Given the description of an element on the screen output the (x, y) to click on. 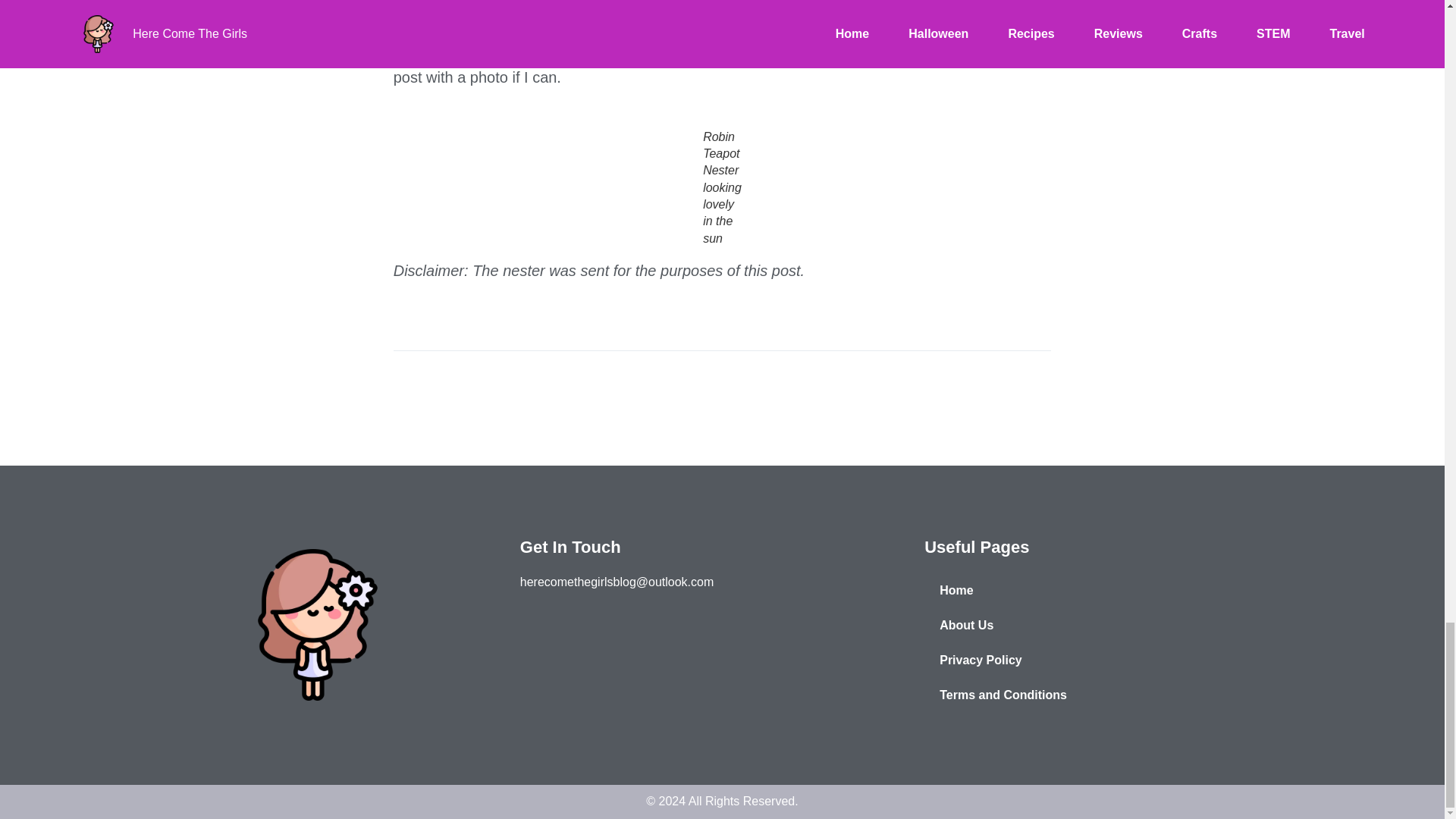
Here Come The Girls Blog Logo png (317, 624)
